Given the description of an element on the screen output the (x, y) to click on. 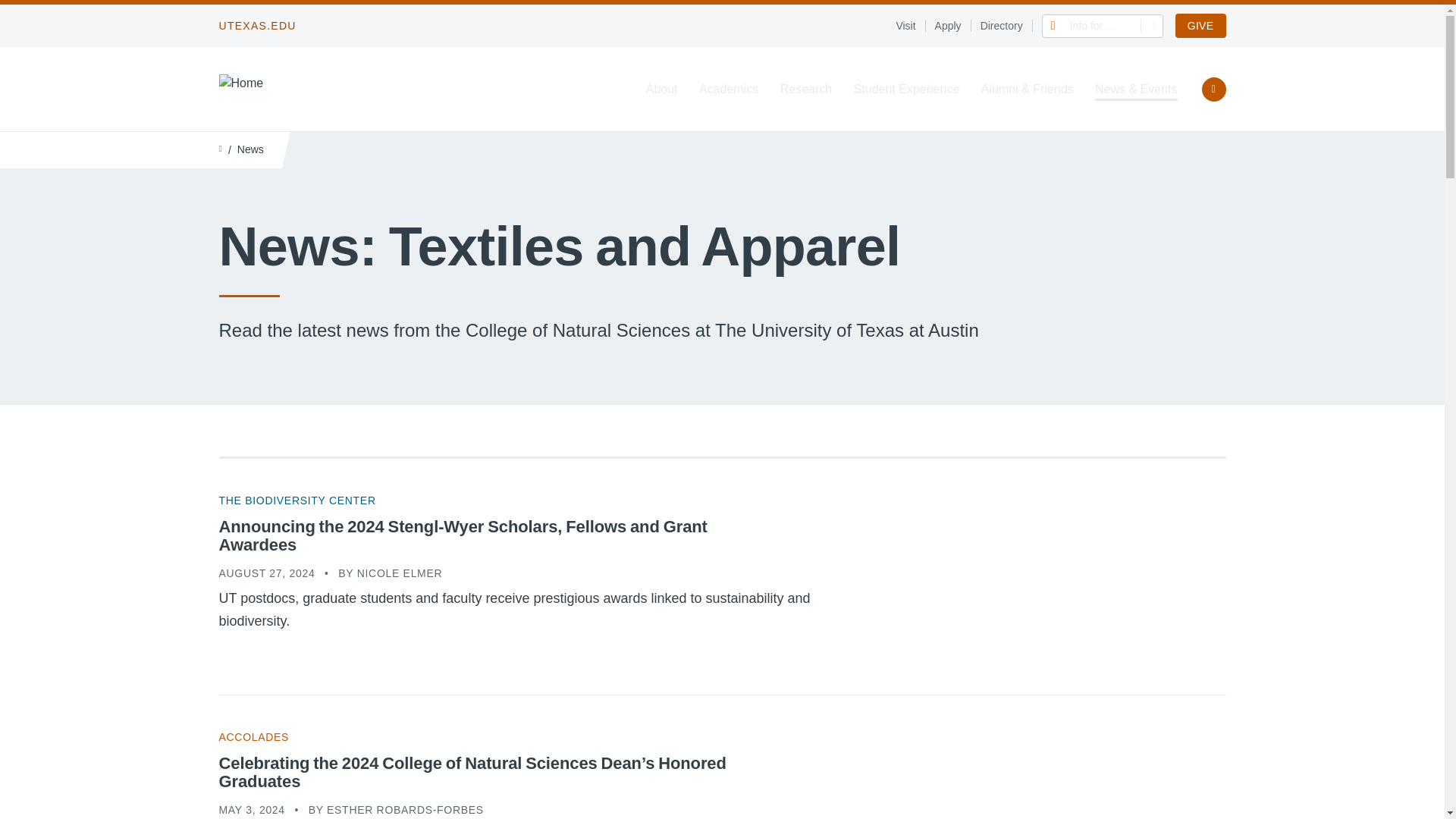
UTEXAS.EDU (256, 26)
Student Experience (906, 90)
About (662, 90)
Research (805, 90)
Info for ... (1102, 24)
Directory (1005, 25)
Academics (728, 90)
Visit (909, 25)
GIVE (1199, 25)
Apply (952, 25)
